Given the description of an element on the screen output the (x, y) to click on. 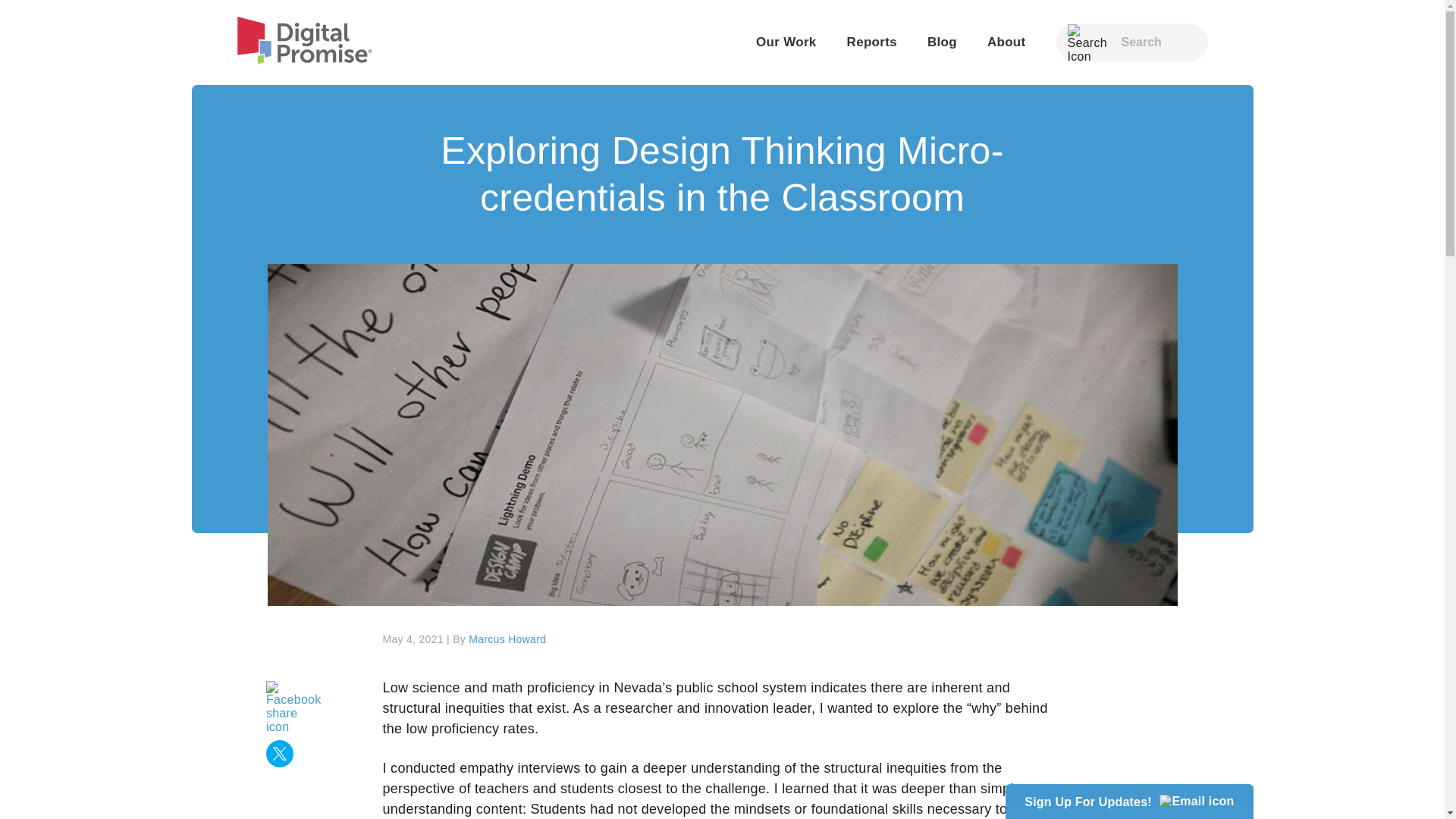
Reports (871, 42)
Our Work (785, 42)
league-of-innovative-schools (611, 90)
micro-credentials (760, 54)
Share on Twitter (280, 755)
networks-applications (1010, 54)
Our Work (785, 42)
About (1006, 42)
digital-equity (655, 54)
Marcus Howard (507, 639)
Reports (871, 42)
Blog (941, 42)
About (1006, 42)
Blog (941, 42)
Posts by Marcus Howard (507, 639)
